Given the description of an element on the screen output the (x, y) to click on. 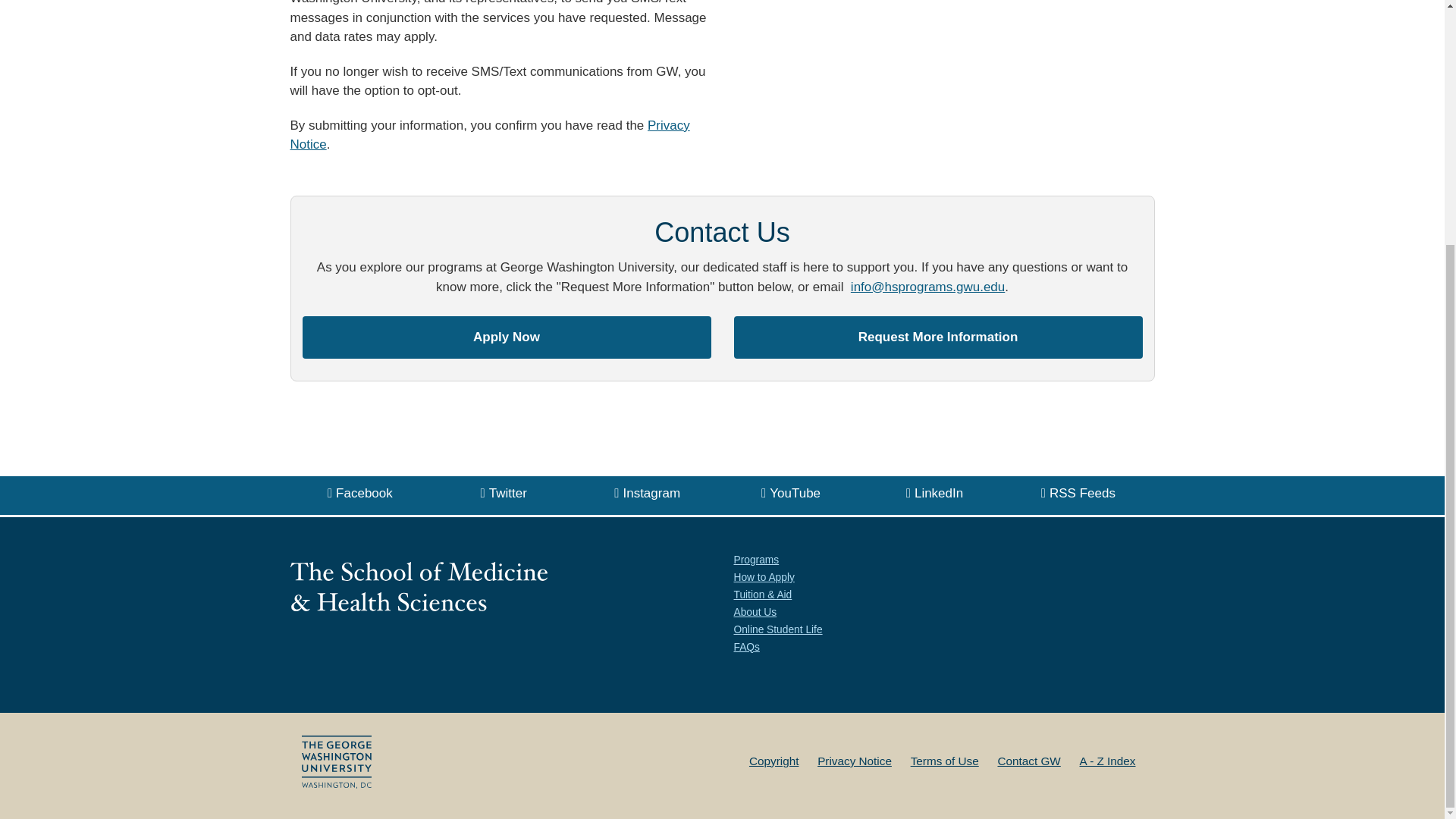
YouTube (790, 493)
Facebook (359, 493)
Programs (755, 559)
Apply Now (505, 337)
Contact GW (1028, 760)
Instagram (646, 493)
How to Apply (763, 577)
The George Washington University (336, 761)
Copyright (773, 760)
Privacy Notice (488, 134)
FAQs (746, 646)
The School of Medicine and Health Sciences (418, 585)
About Us (755, 612)
LinkedIn (934, 493)
Request More Information (937, 337)
